Given the description of an element on the screen output the (x, y) to click on. 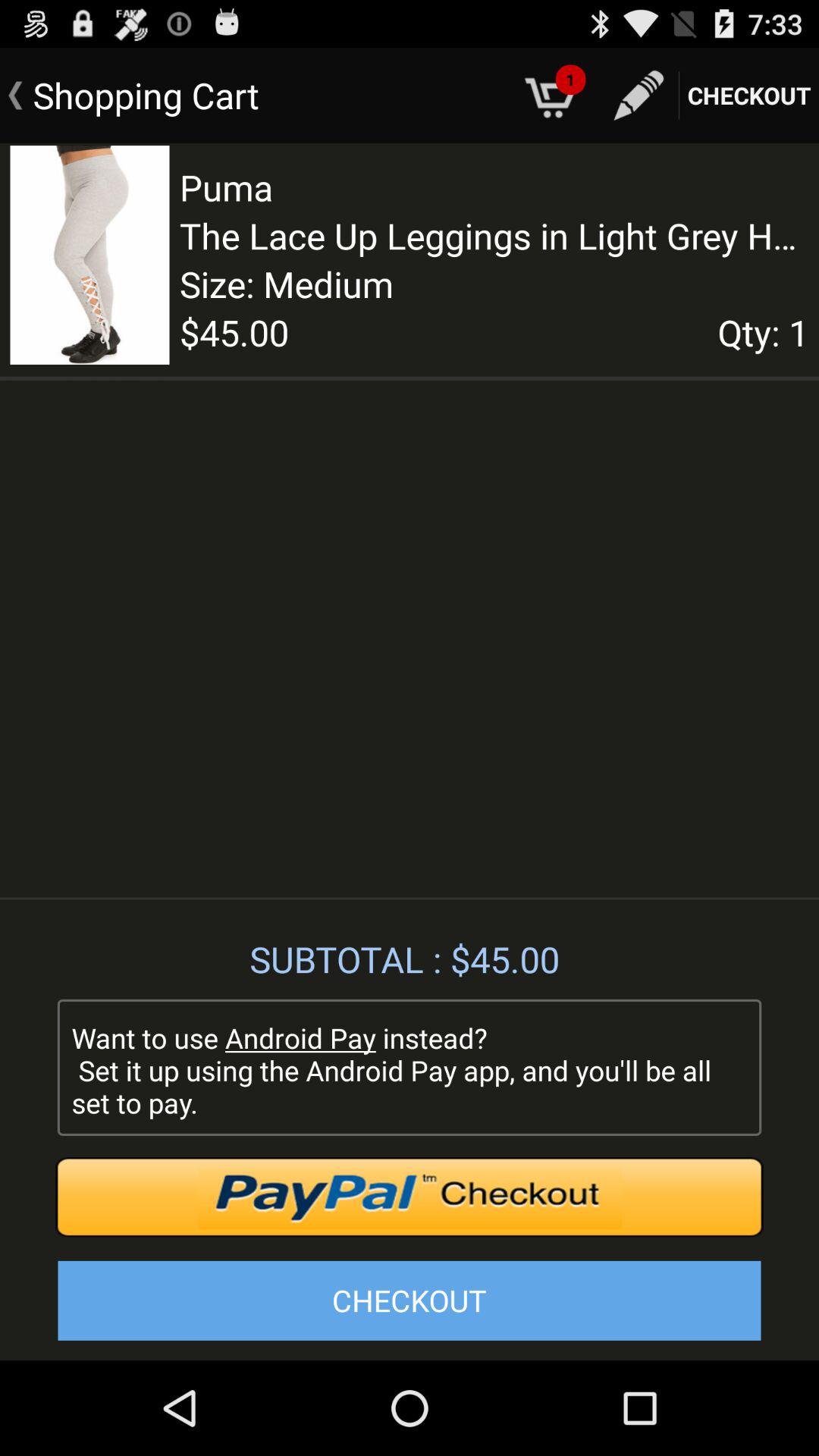
select the symbol which is to the immediate right of checkout (638, 95)
go to the icon which is right to the text shopping cart (551, 95)
click on checkout (749, 95)
